Given the description of an element on the screen output the (x, y) to click on. 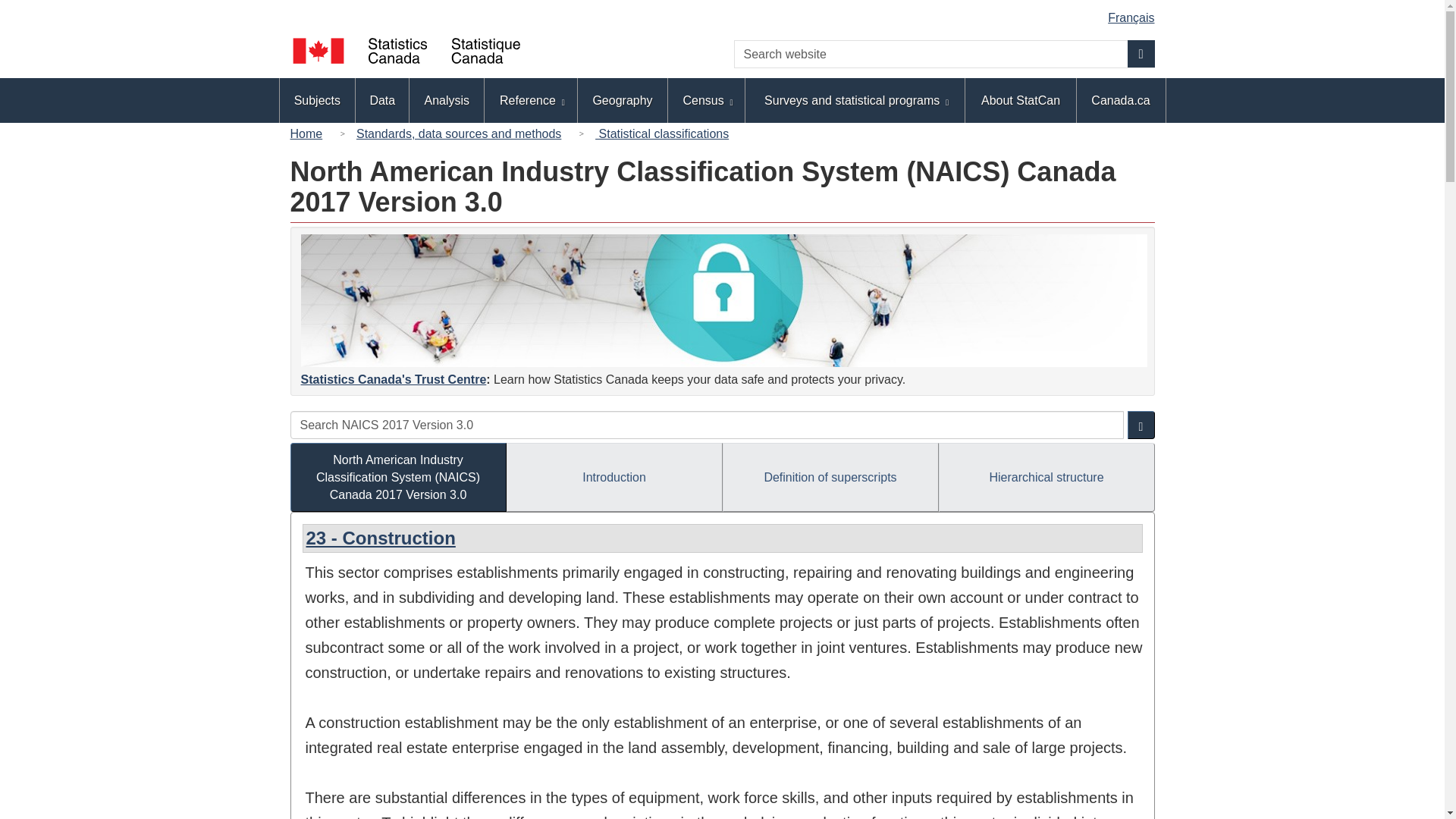
Skip to main content (725, 12)
Statistics (723, 300)
